Given the description of an element on the screen output the (x, y) to click on. 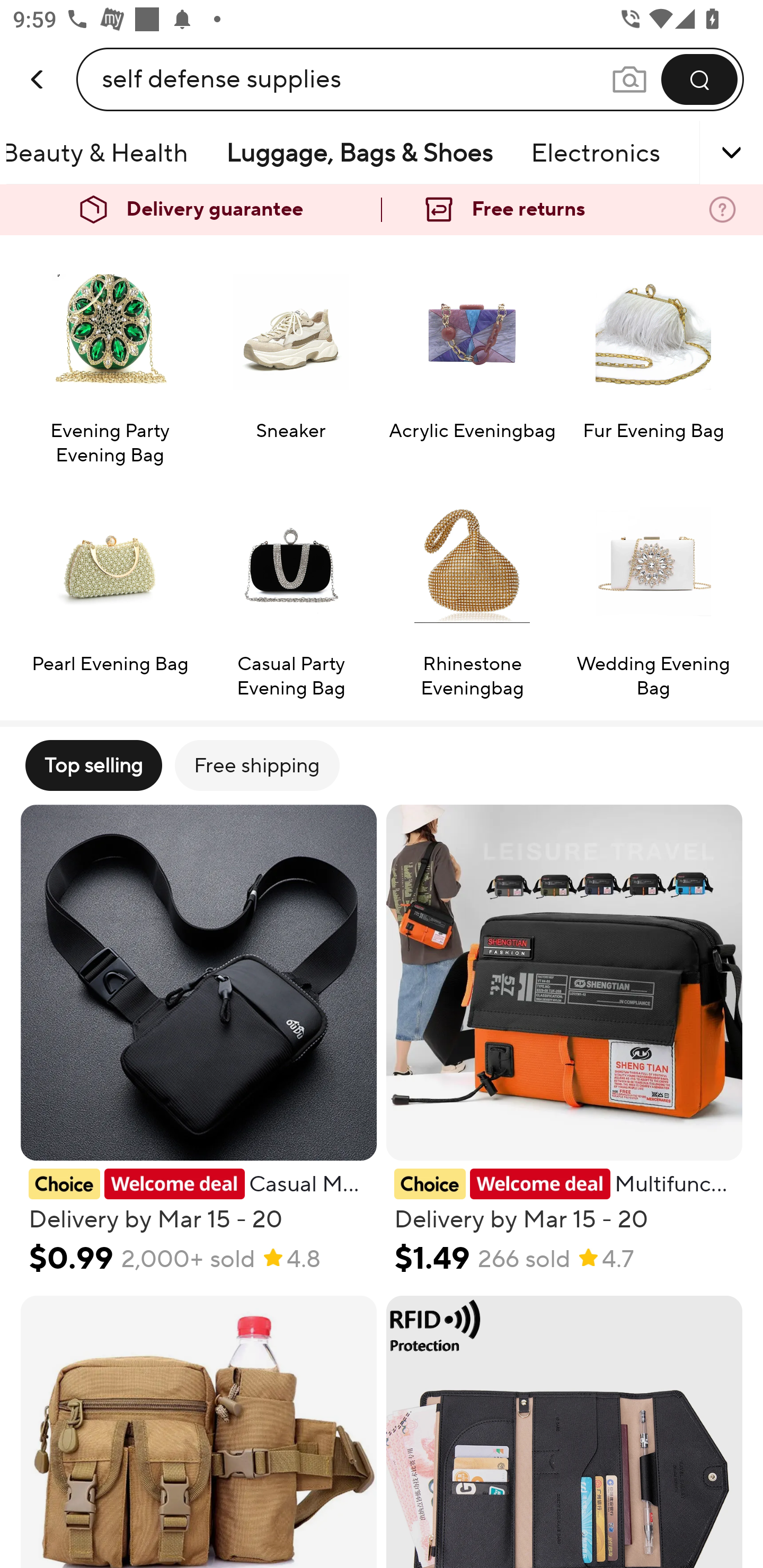
back  (38, 59)
self defense supplies Search query (355, 79)
Beauty & Health (106, 152)
Electronics (595, 152)
 (705, 152)
Delivery guarantee Free returns (381, 210)
Evening Party Evening Bag (109, 357)
Sneaker (290, 357)
Acrylic Eveningbag (471, 357)
Fur Evening Bag (653, 357)
Pearl Evening Bag (109, 590)
Casual Party Evening Bag (290, 590)
Rhinestone Eveningbag (471, 590)
Wedding Evening Bag (653, 590)
Top selling (93, 765)
Free shipping (256, 765)
